Given the description of an element on the screen output the (x, y) to click on. 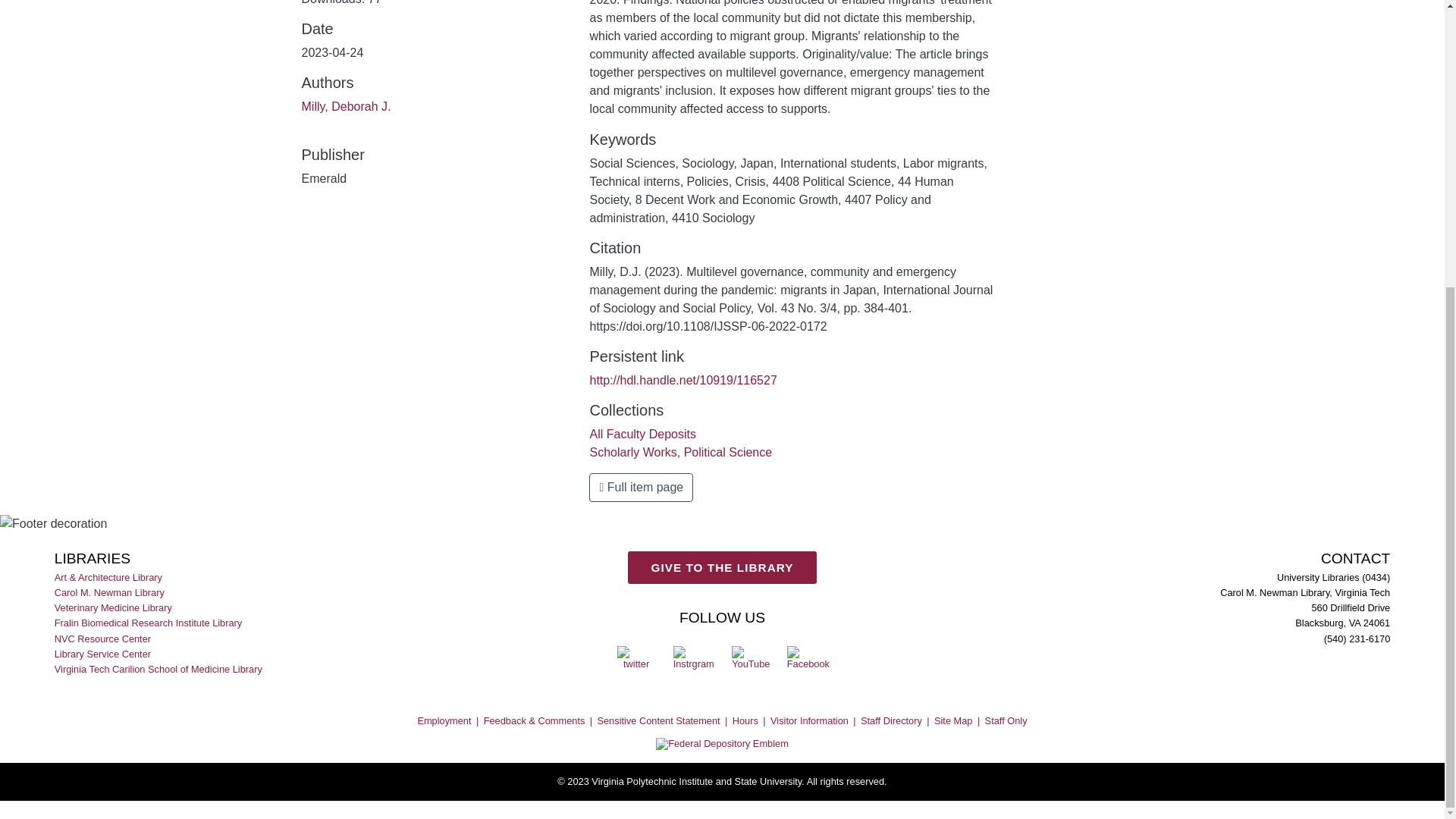
Fralin Biomedical Research Institute Library (149, 622)
Library Service Center (103, 653)
Full item page (641, 487)
NVC Resource Center (103, 638)
All Faculty Deposits (642, 433)
Veterinary Medicine Library (114, 607)
Scholarly Works, Political Science (680, 451)
Carol M. Newman Library (111, 592)
Milly, Deborah J. (346, 106)
